Given the description of an element on the screen output the (x, y) to click on. 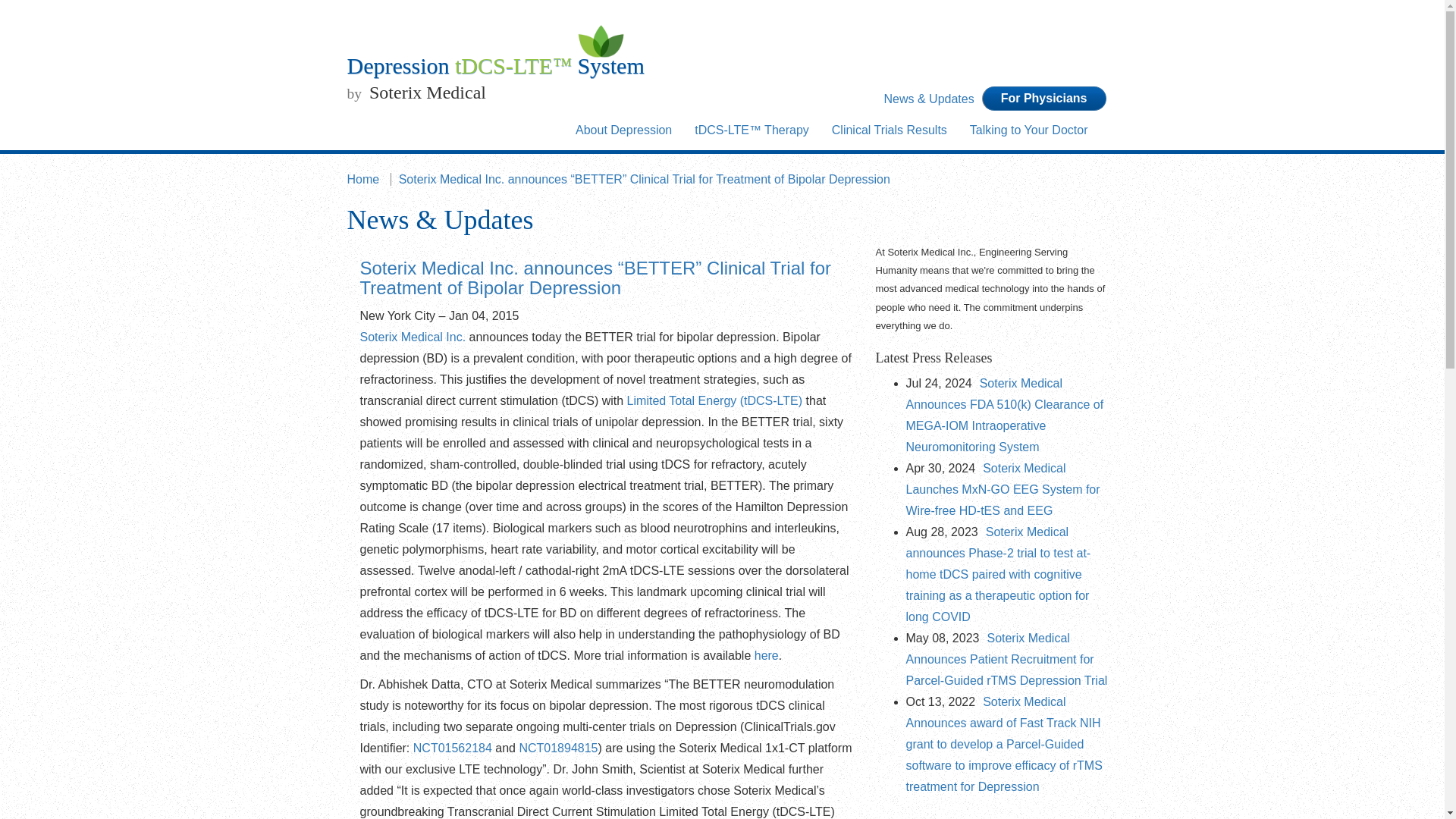
About Depression (623, 130)
NCT01894815 (557, 748)
NCT01562184 (452, 748)
Home (367, 178)
Soterix Medical (423, 92)
For Physicians (1043, 98)
Talking to Your Doctor (1028, 130)
Soterix Medical Inc. (412, 336)
